Given the description of an element on the screen output the (x, y) to click on. 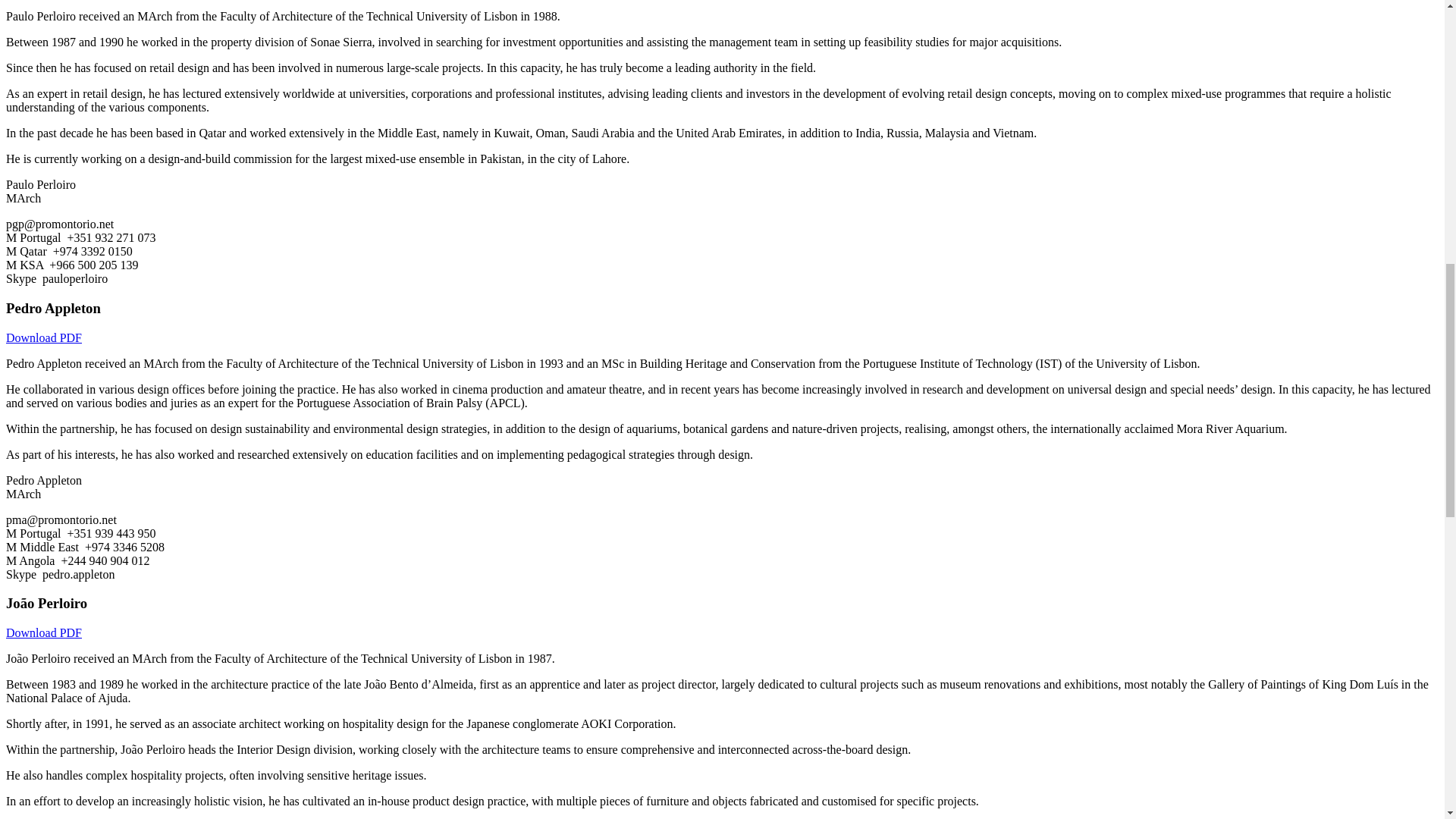
Pedro Appleton (52, 308)
Download PDF (43, 337)
Download PDF (43, 632)
